Given the description of an element on the screen output the (x, y) to click on. 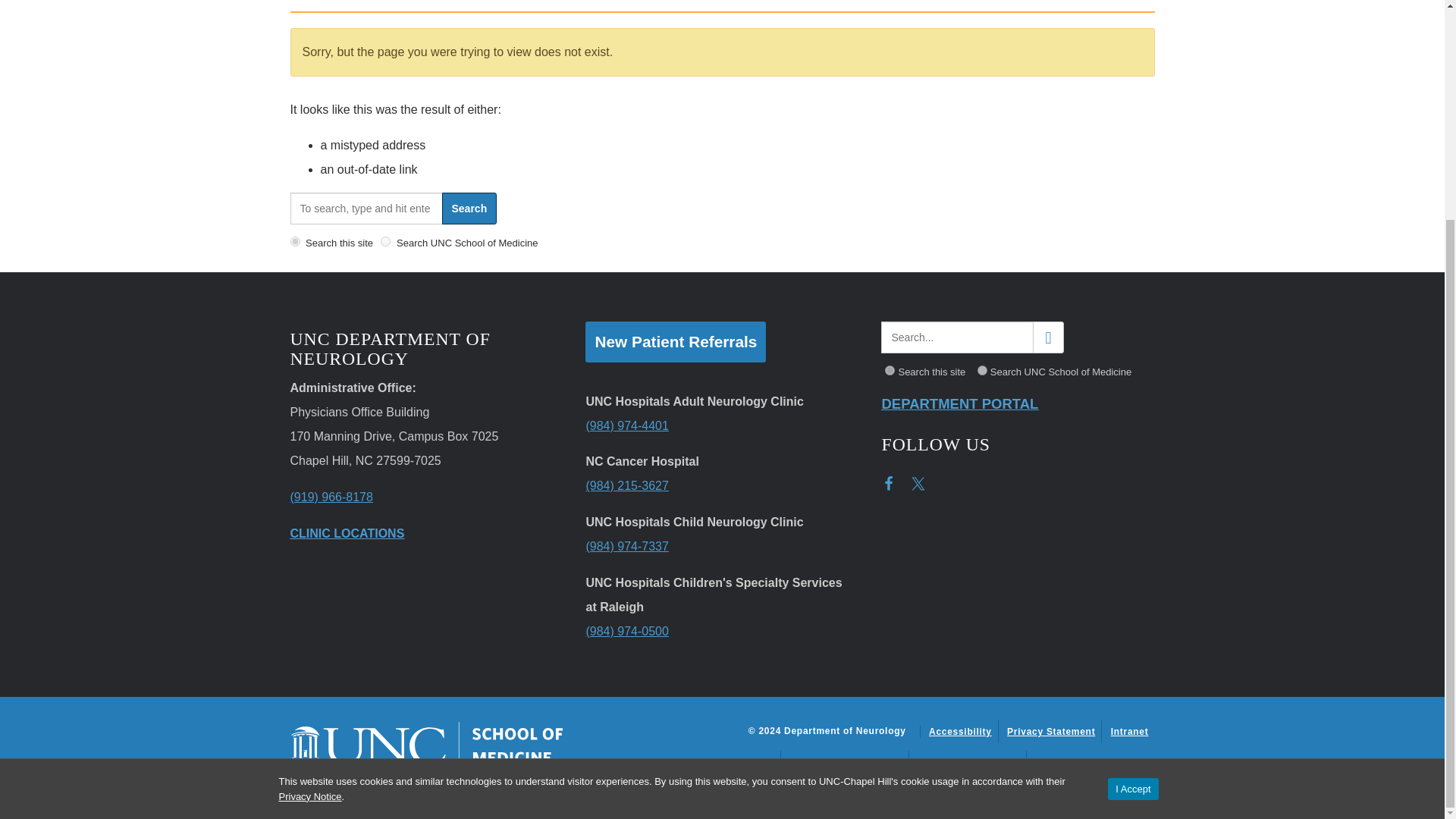
Patient Referrals (675, 341)
Privacy Notice (310, 504)
wp (294, 241)
gcs (981, 370)
I Accept (1132, 497)
UNC School of Medicine (425, 745)
gcs (385, 241)
wp (890, 370)
